Given the description of an element on the screen output the (x, y) to click on. 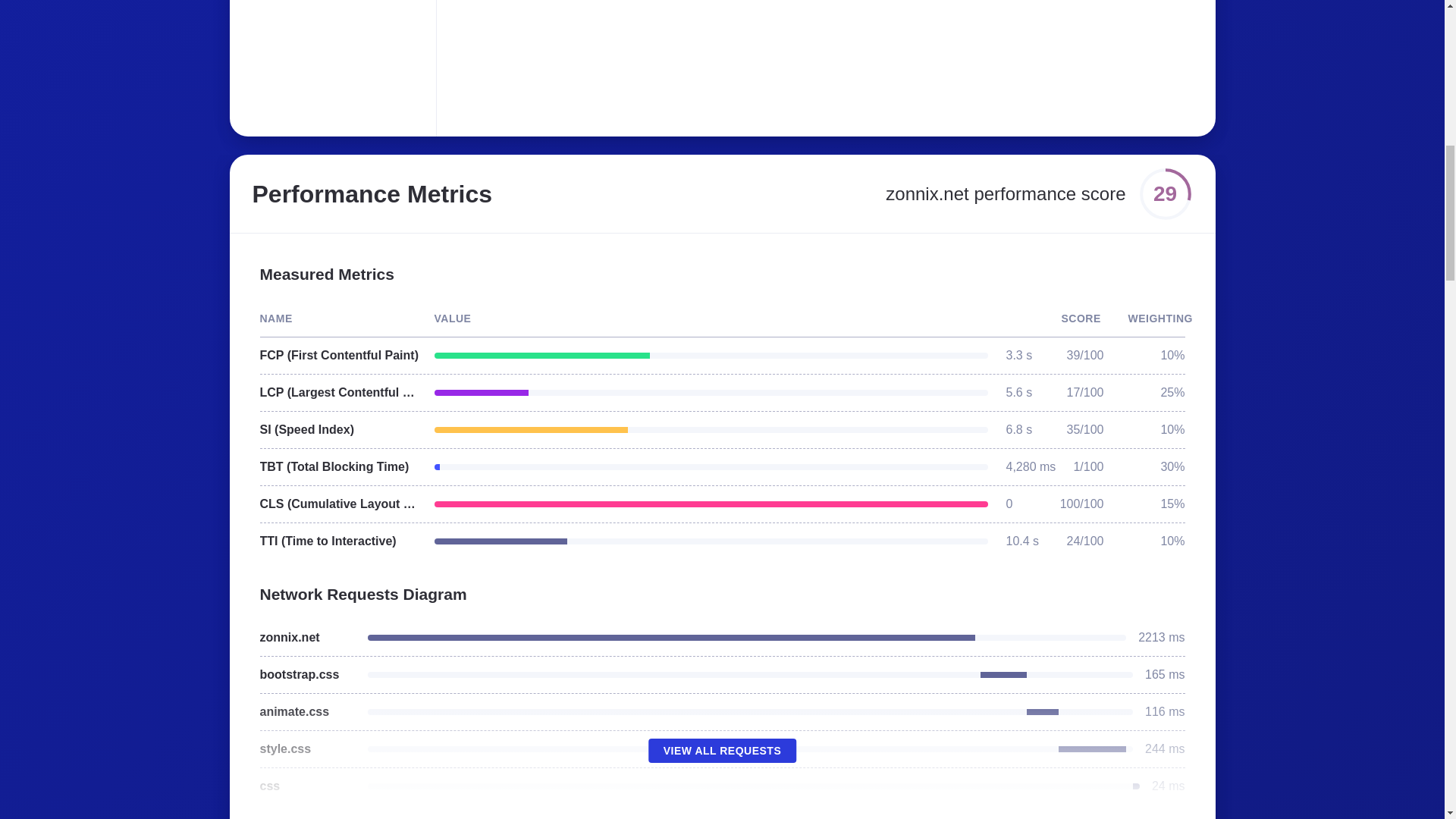
Advertisement (686, 58)
VIEW ALL REQUESTS (721, 750)
